Given the description of an element on the screen output the (x, y) to click on. 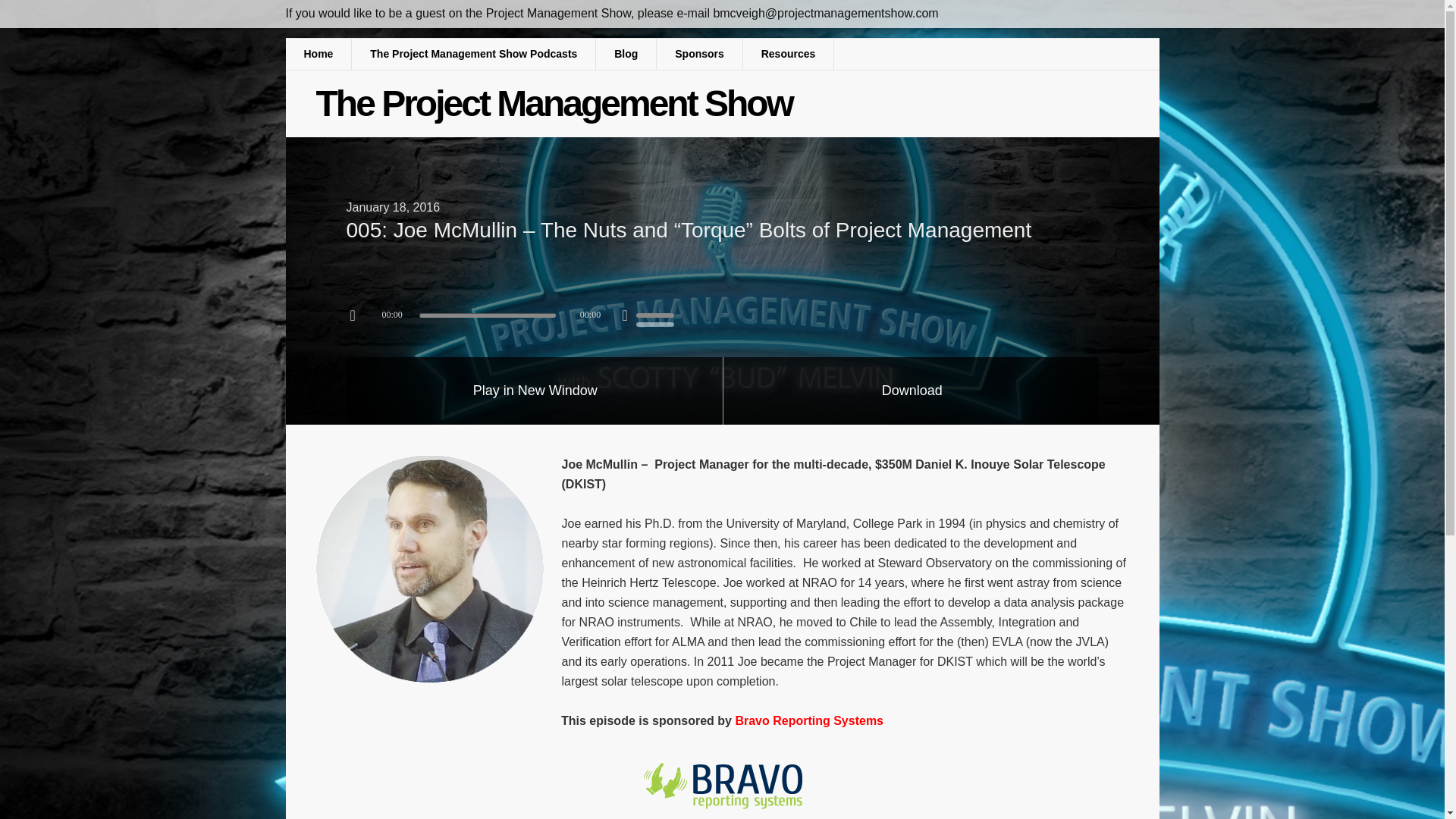
The Project Management Show (553, 103)
The Project Management Show Podcasts (473, 53)
Download (911, 391)
Resources (788, 53)
Blog (625, 53)
Sponsors (699, 53)
Home (318, 53)
Mute (624, 315)
Play (357, 315)
Play in New Window (535, 391)
